Given the description of an element on the screen output the (x, y) to click on. 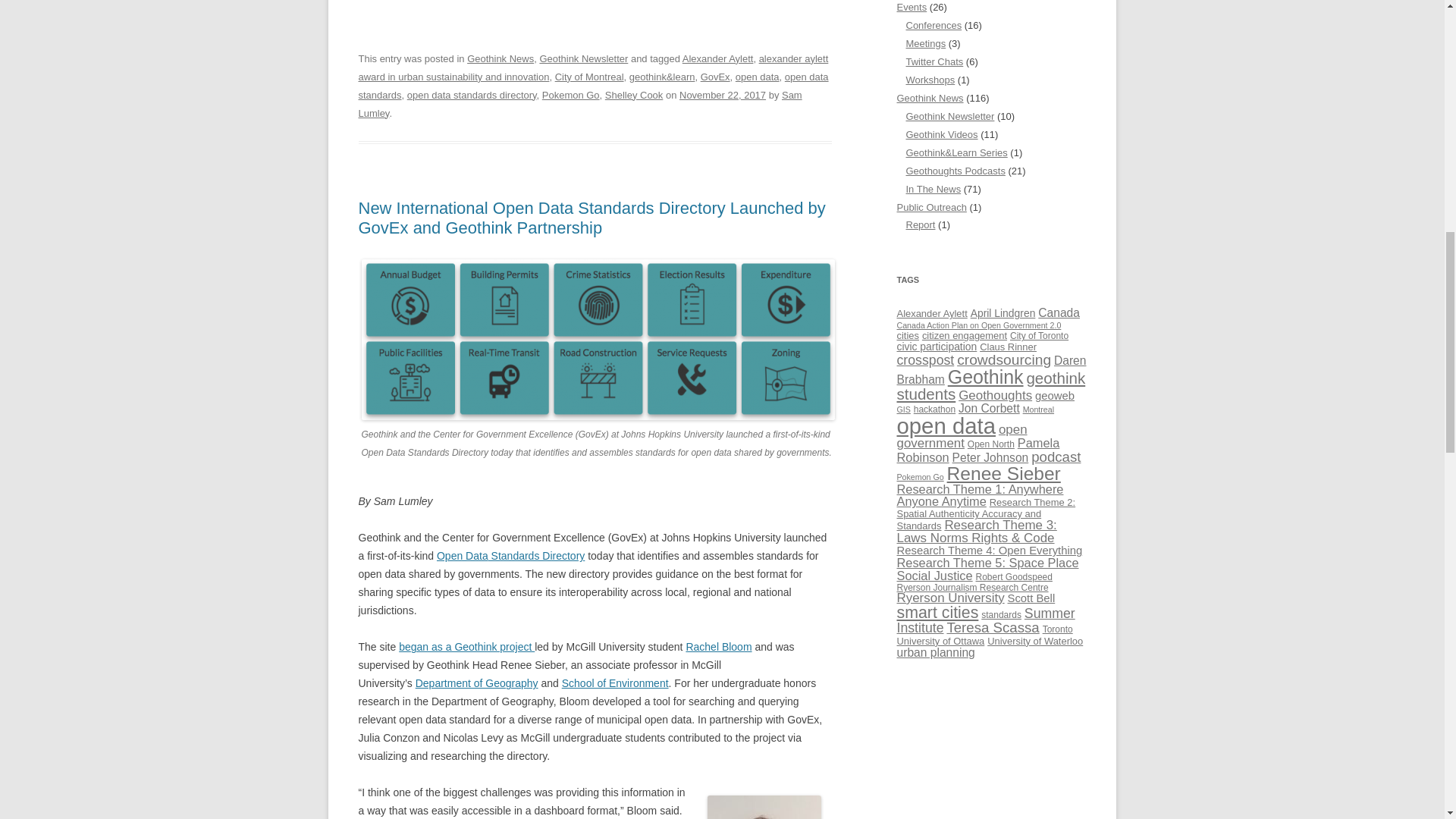
View all posts by Sam Lumley (580, 103)
Geothink News (500, 58)
Geothink Newsletter (582, 58)
open data (756, 76)
Alexander Aylett (718, 58)
City of Montreal (589, 76)
10:47 PM (722, 94)
GovEx (715, 76)
